Given the description of an element on the screen output the (x, y) to click on. 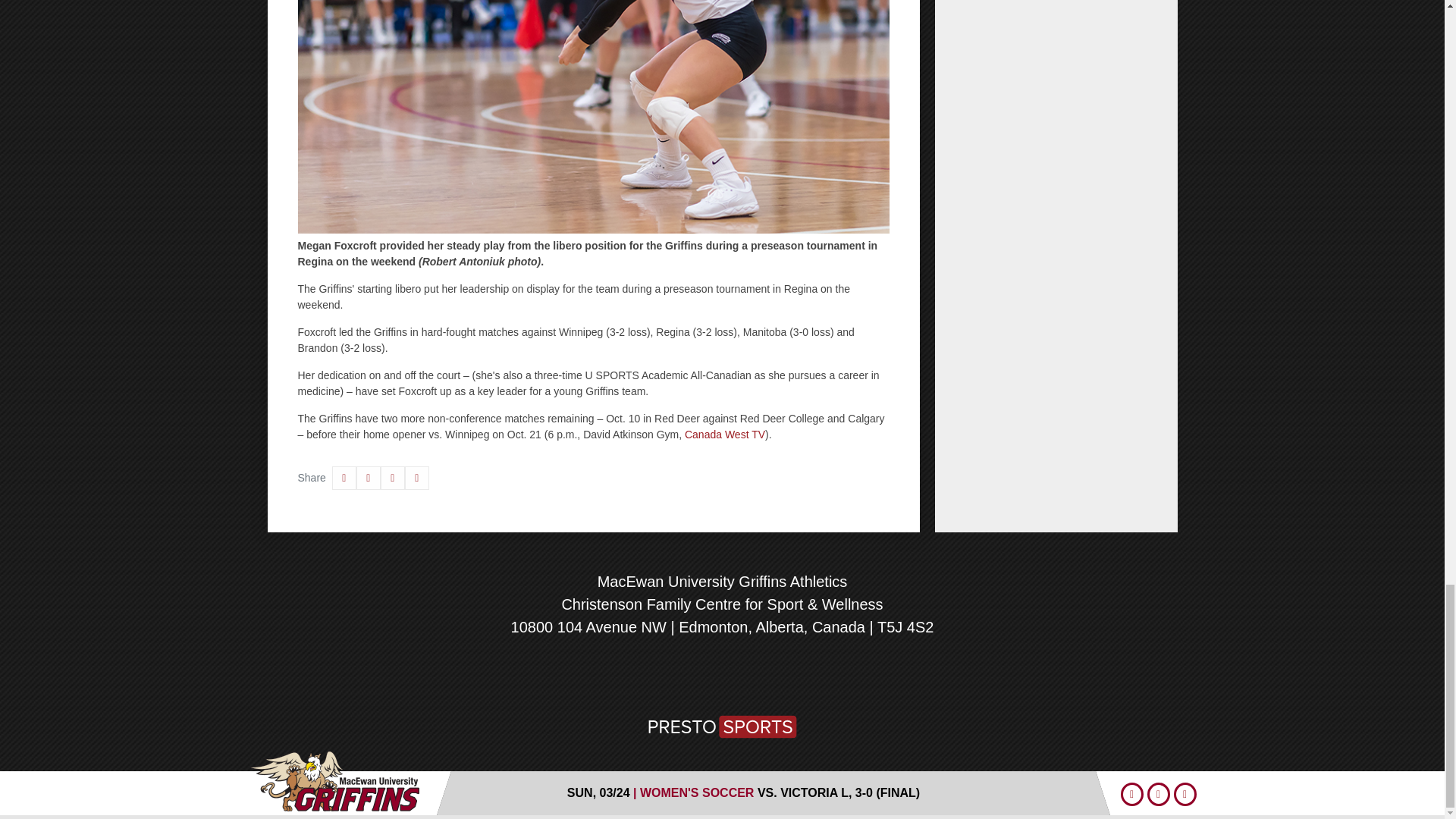
Print (416, 477)
